Given the description of an element on the screen output the (x, y) to click on. 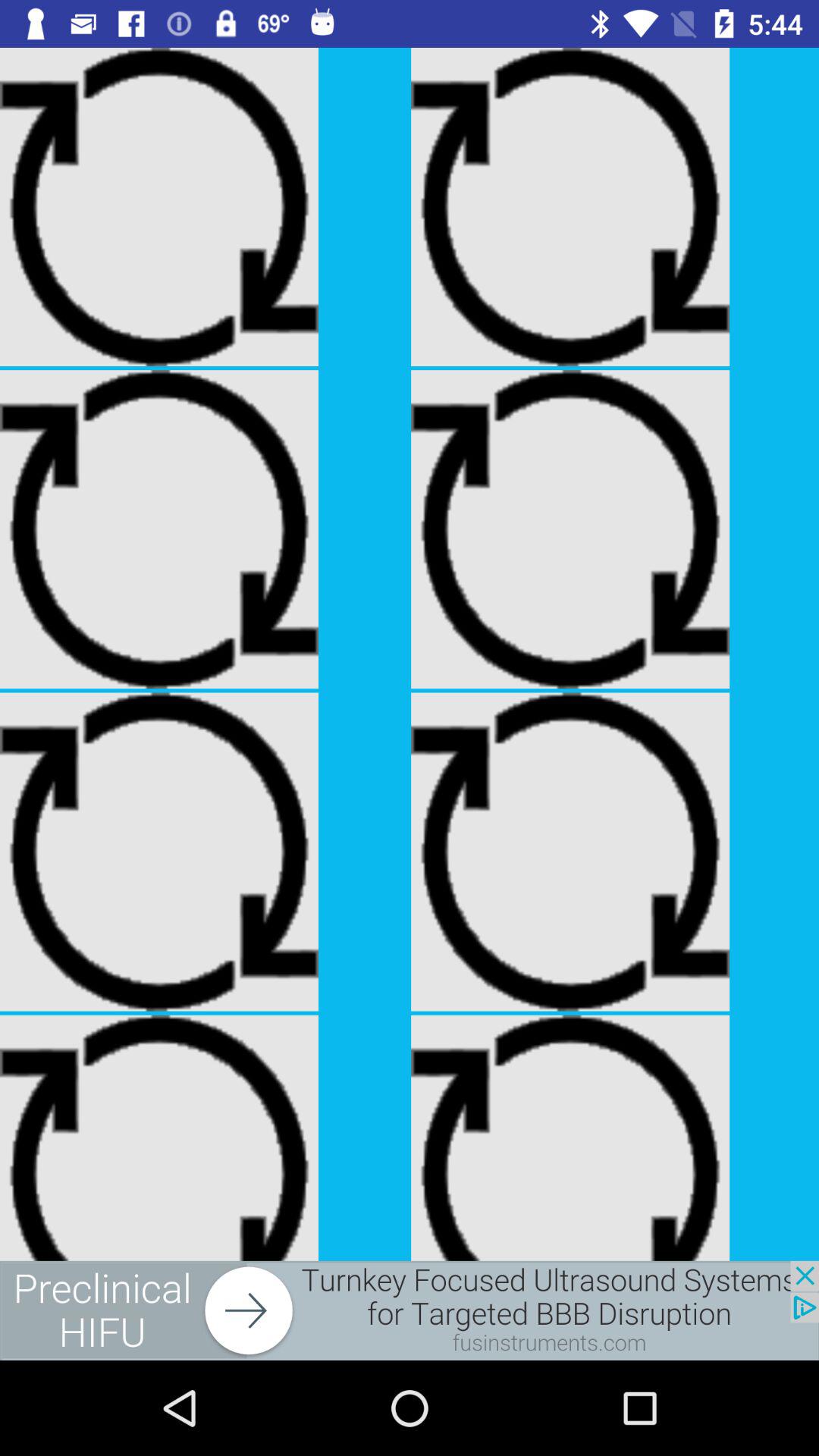
advertisement for ultrasound systems (409, 1310)
